Given the description of an element on the screen output the (x, y) to click on. 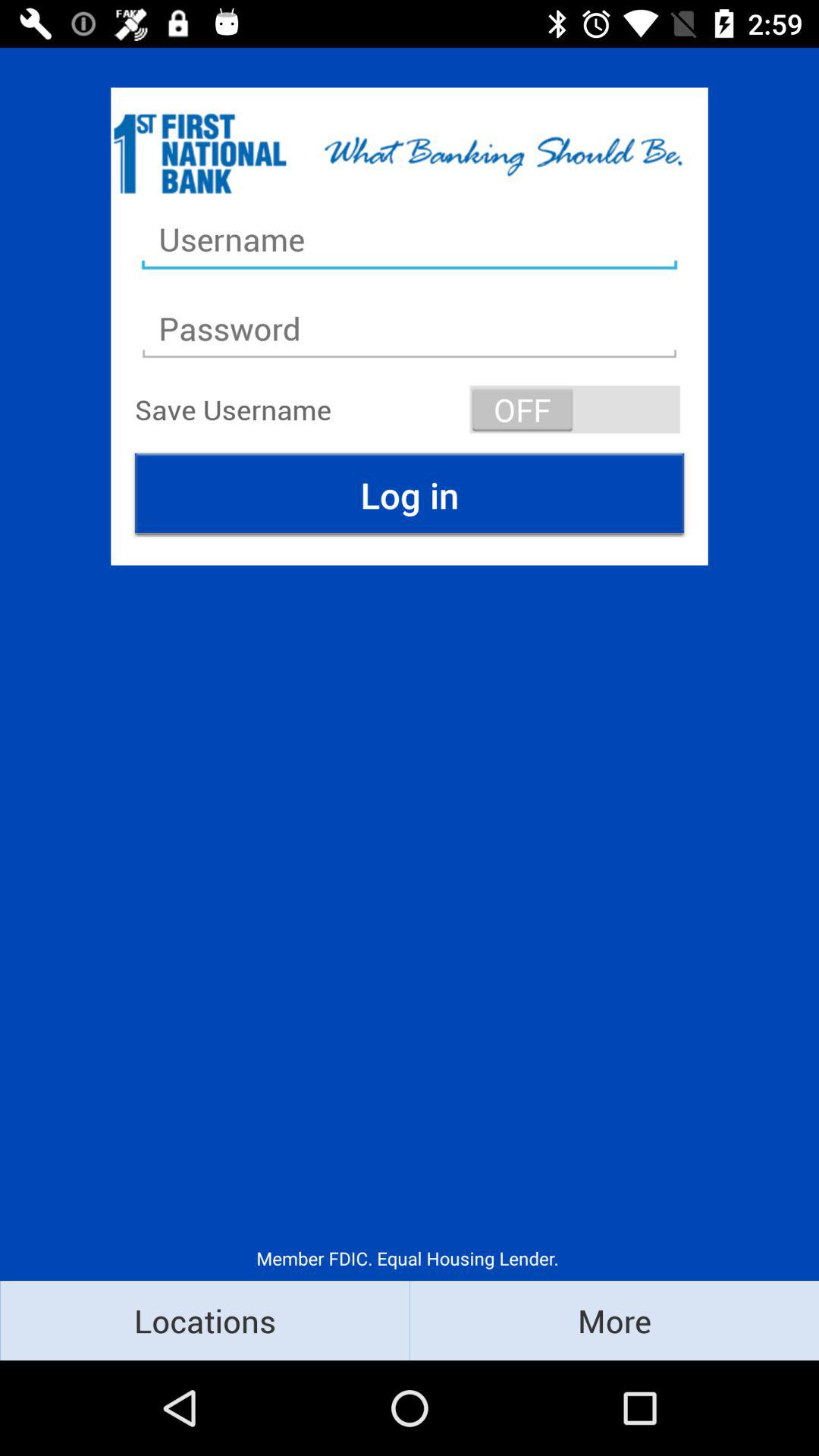
choose item next to the save username (574, 409)
